Given the description of an element on the screen output the (x, y) to click on. 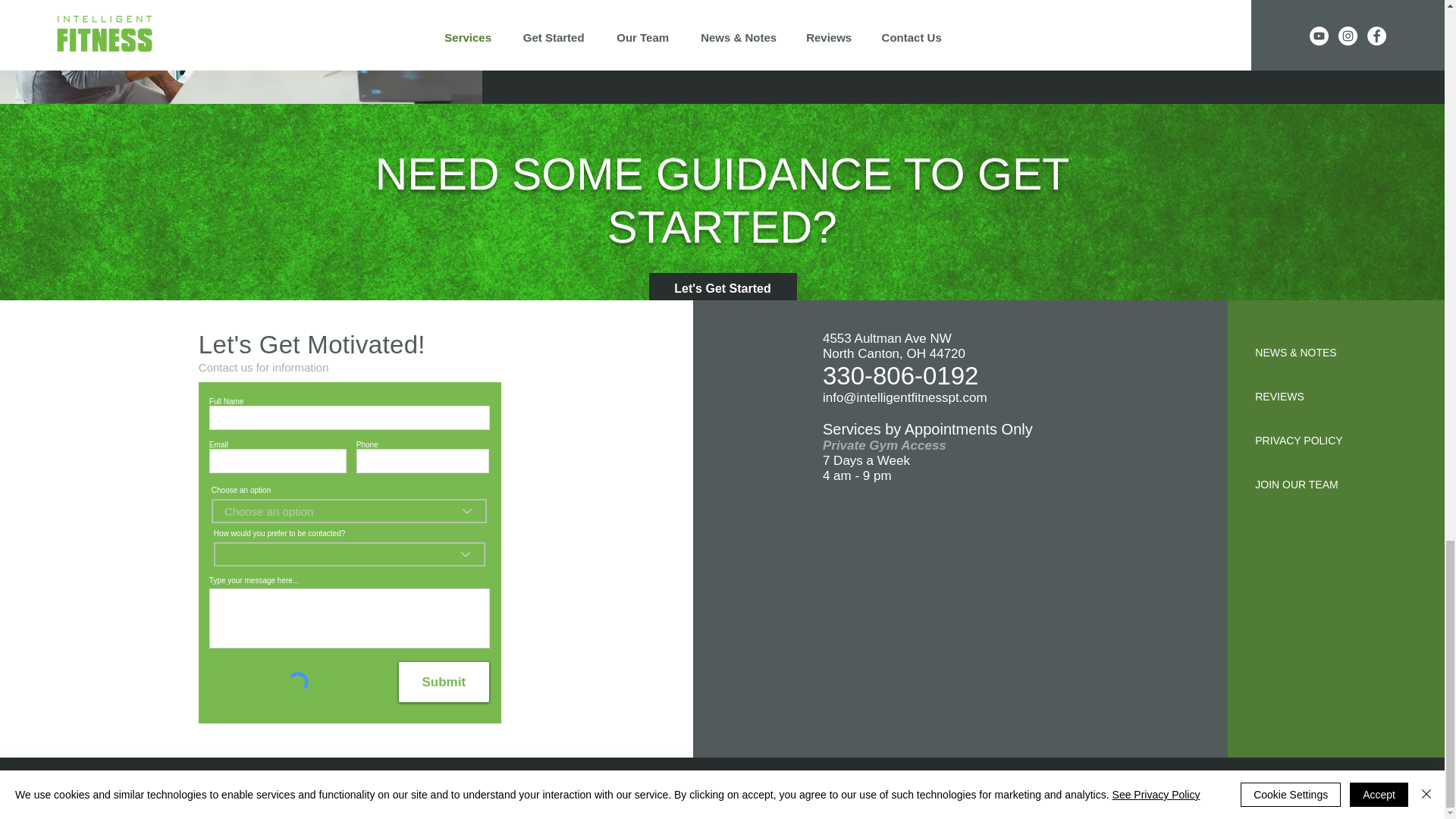
RIVACY POLICY (1302, 440)
Let's Get Started (722, 287)
REVIEWS (1279, 396)
JOIN OUR TEAM (1296, 484)
Submit (443, 681)
Google Maps (959, 610)
